Given the description of an element on the screen output the (x, y) to click on. 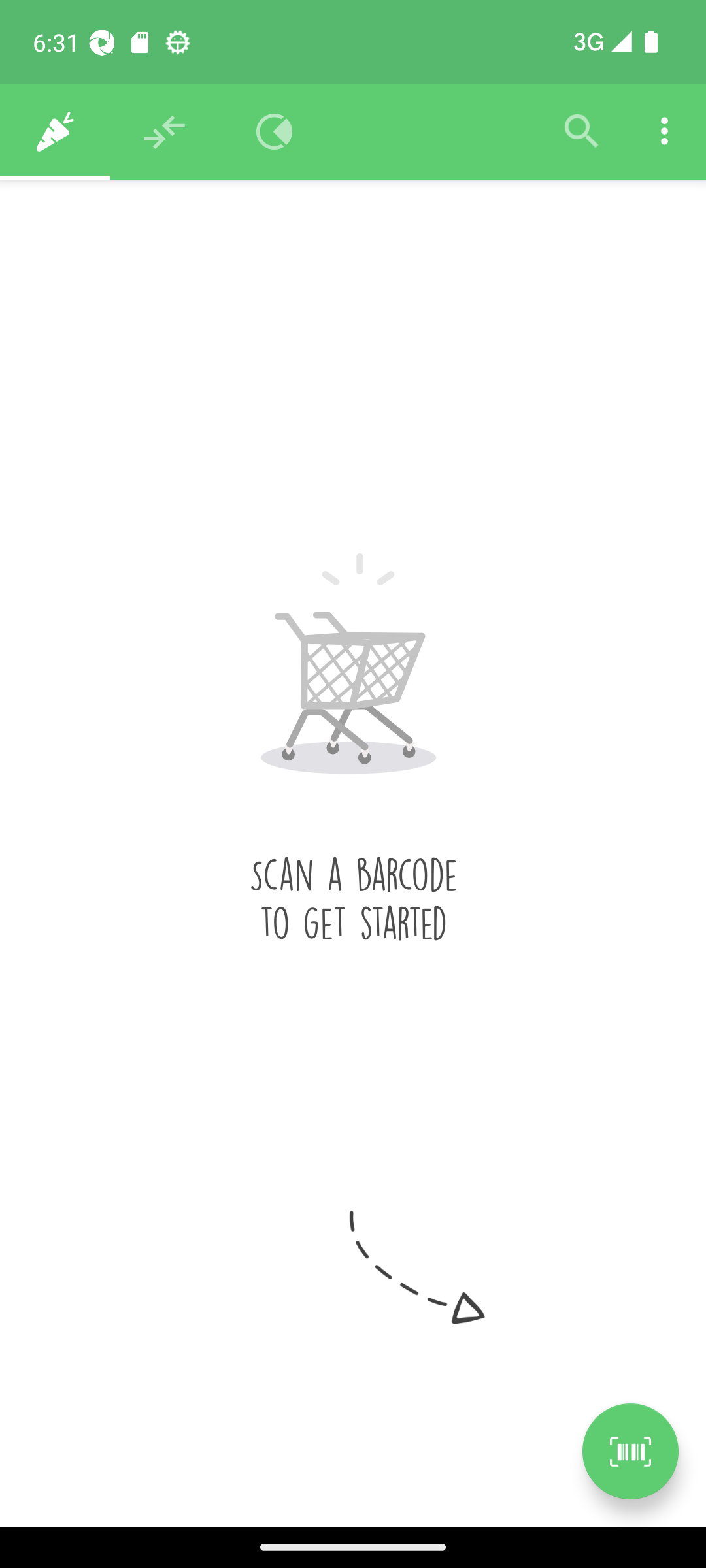
Recommendations (164, 131)
Overview (274, 131)
Filter (581, 131)
Settings (664, 131)
Scan a product (630, 1451)
